Given the description of an element on the screen output the (x, y) to click on. 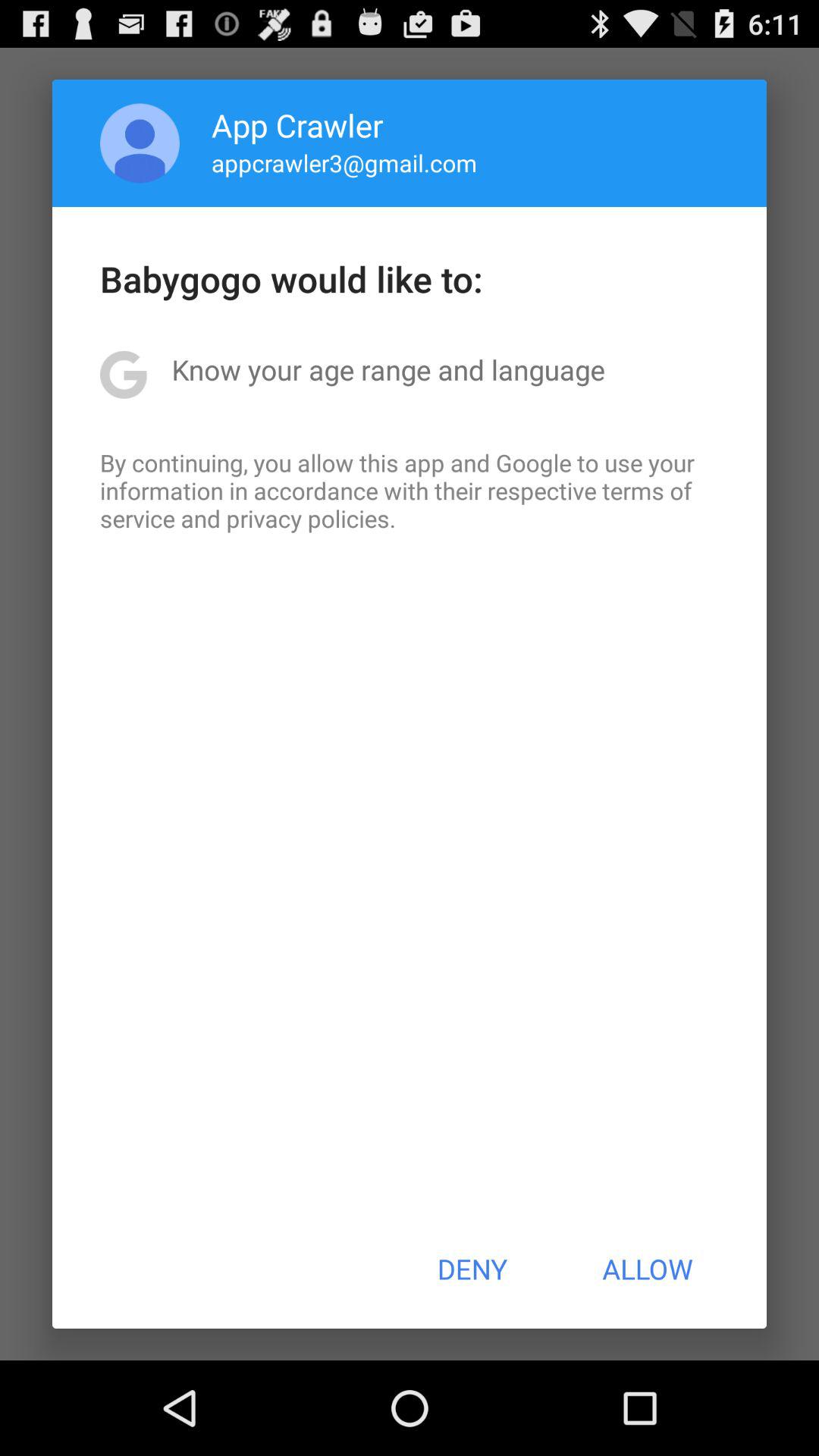
choose deny item (471, 1268)
